Given the description of an element on the screen output the (x, y) to click on. 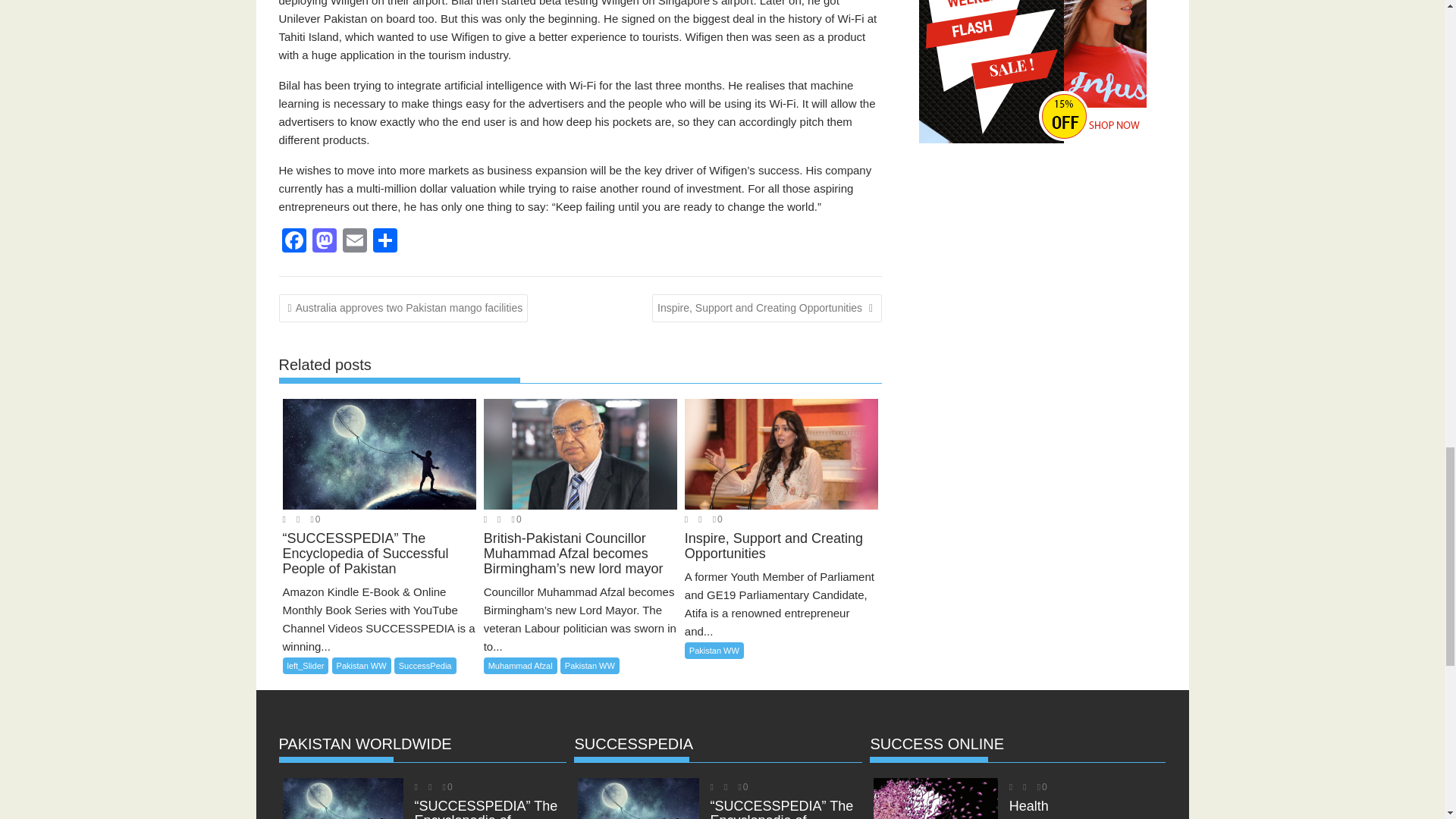
Email (354, 242)
Facebook (293, 242)
Mastodon (323, 242)
